Given the description of an element on the screen output the (x, y) to click on. 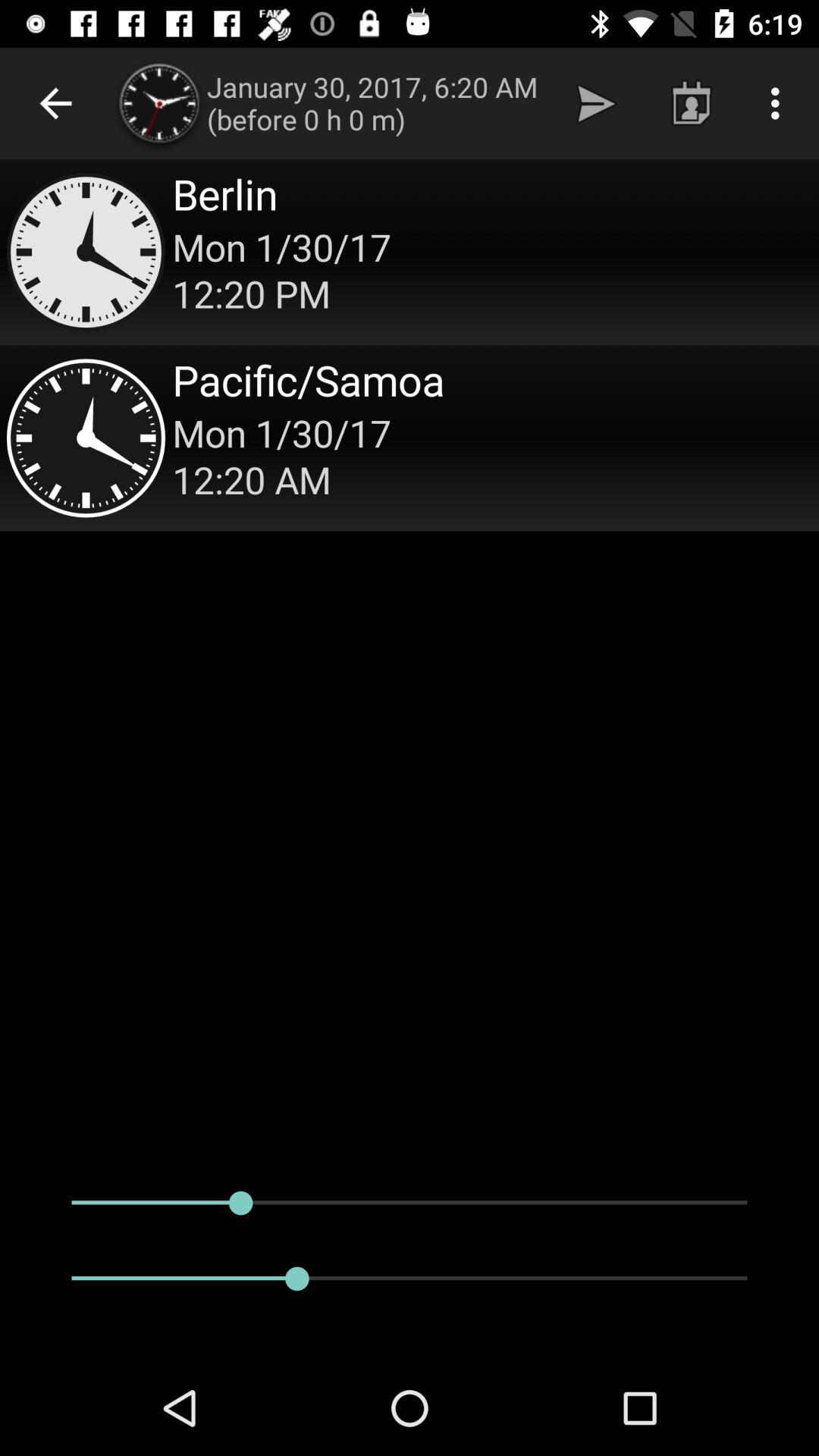
connect of pacific time (409, 438)
